Given the description of an element on the screen output the (x, y) to click on. 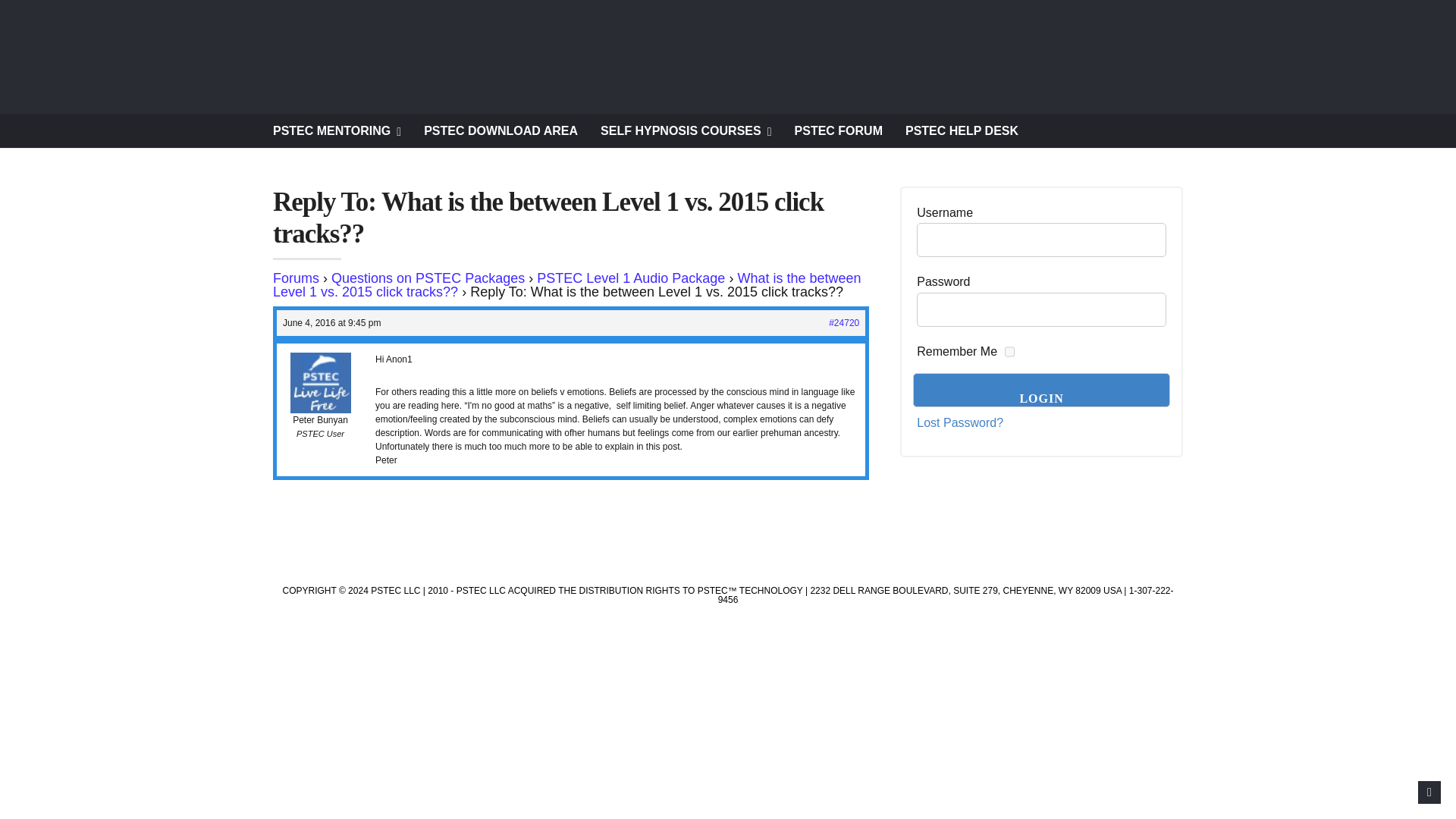
PSTEC MENTORING (337, 130)
What is the between Level 1 vs. 2015 click tracks?? (567, 285)
Login (1041, 390)
Please enter password (1041, 309)
PSTEC Level 1 Audio Package (631, 278)
Login (1041, 390)
PSTEC DOWNLOAD AREA (500, 130)
SELF HYPNOSIS COURSES (685, 130)
Questions on PSTEC Packages (427, 278)
PSTEC HELP DESK (961, 130)
Forums (295, 278)
Yes (1009, 351)
PSTEC FORUM (838, 130)
Please enter username (1041, 239)
Lost Password? (960, 423)
